Given the description of an element on the screen output the (x, y) to click on. 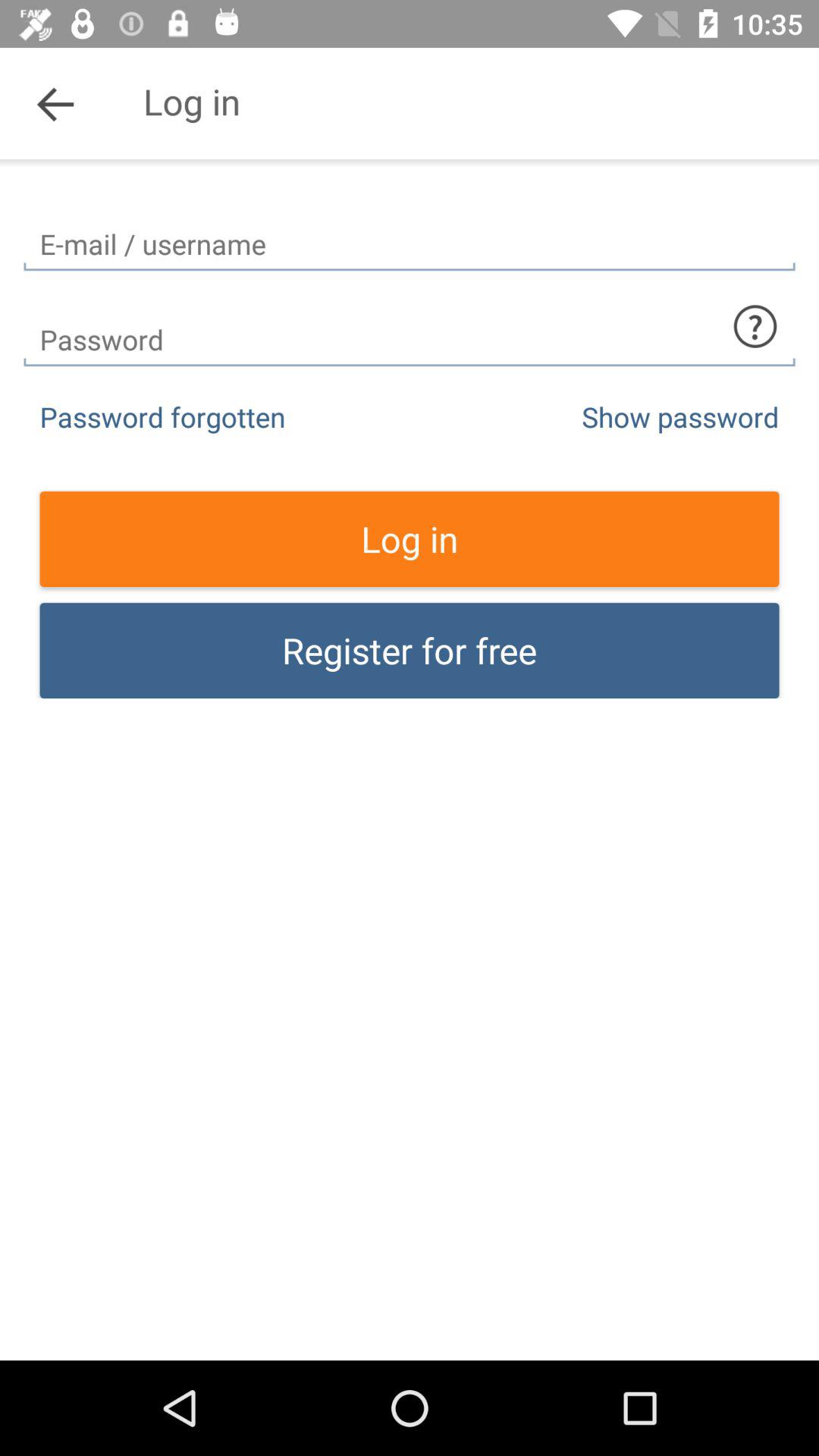
enter your password (409, 326)
